Given the description of an element on the screen output the (x, y) to click on. 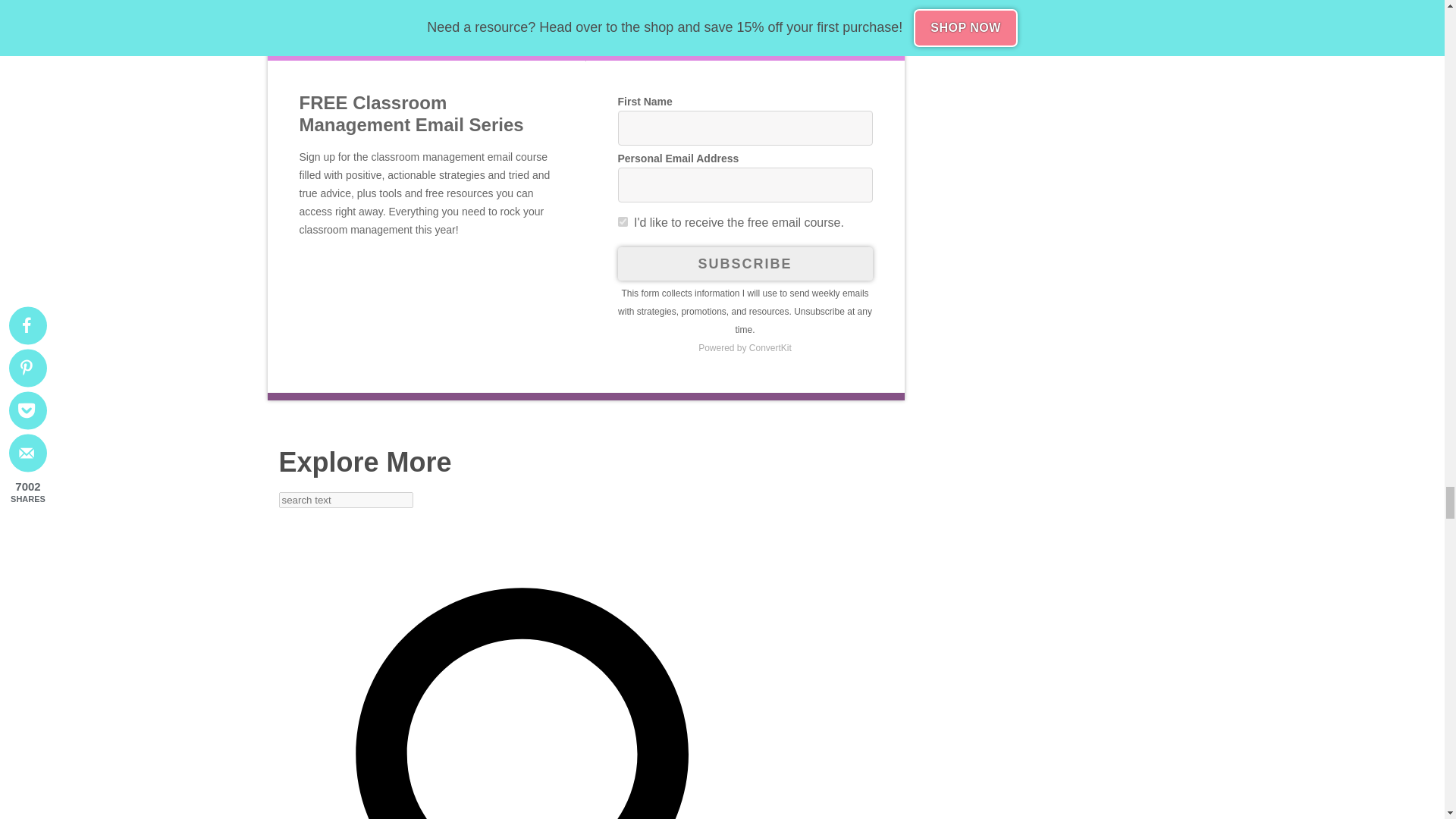
on (622, 221)
